Given the description of an element on the screen output the (x, y) to click on. 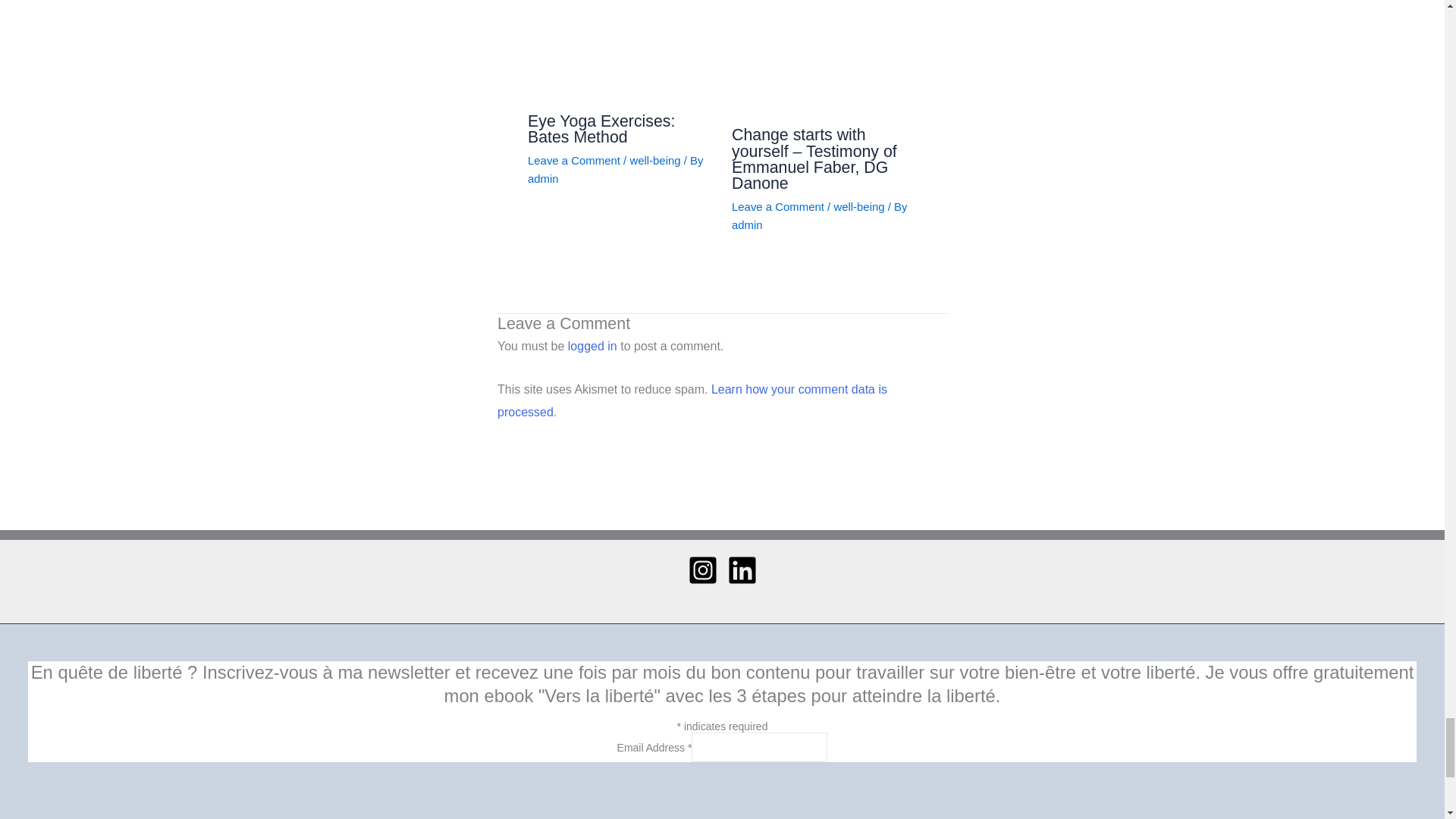
View all posts by admin (747, 224)
Eye Yoga Exercises: Bates Method (601, 129)
well-being (653, 160)
admin (543, 178)
Leave a Comment (573, 160)
View all posts by admin (543, 178)
